Given the description of an element on the screen output the (x, y) to click on. 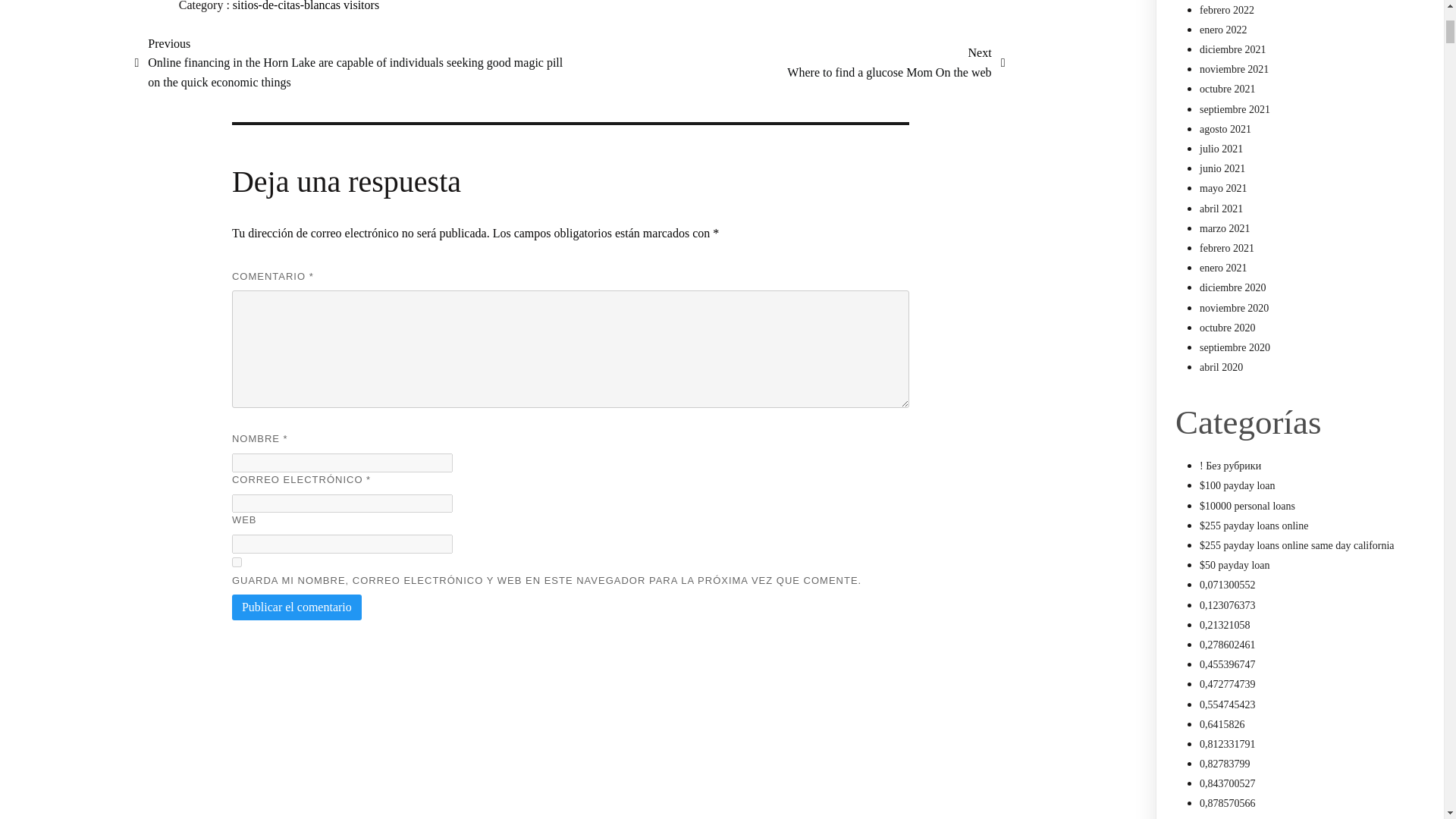
Publicar el comentario (296, 606)
Publicar el comentario (296, 606)
yes (895, 62)
sitios-de-citas-blancas visitors (236, 562)
